Given the description of an element on the screen output the (x, y) to click on. 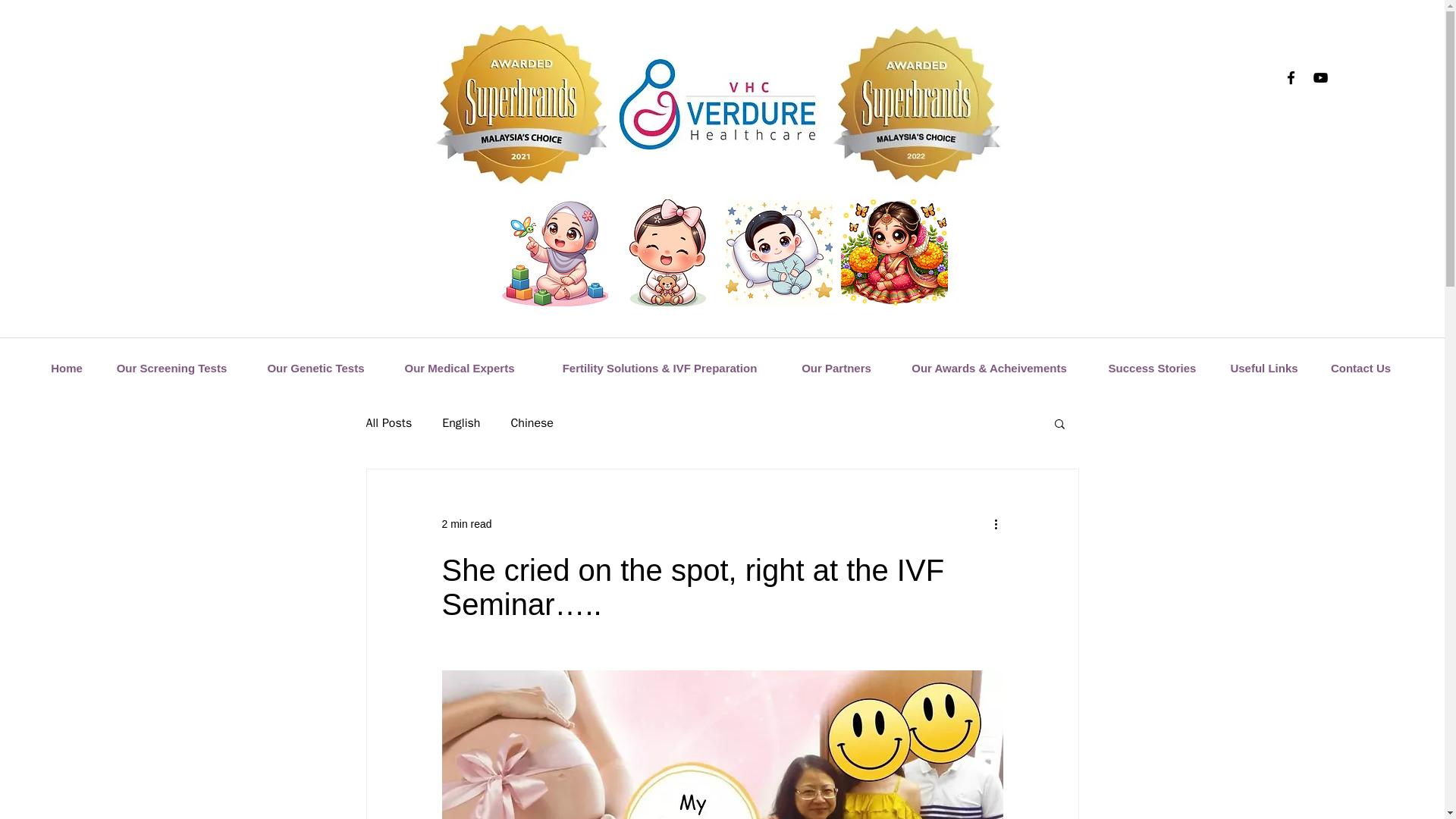
Our Screening Tests (171, 367)
English (461, 423)
Contact Us (1360, 367)
Chinese (532, 423)
Our Partners (836, 367)
Home (66, 367)
Useful Links (1264, 367)
All Posts (388, 423)
2 min read (466, 522)
Our Medical Experts (459, 367)
Success Stories (1152, 367)
Our Genetic Tests (315, 367)
